Given the description of an element on the screen output the (x, y) to click on. 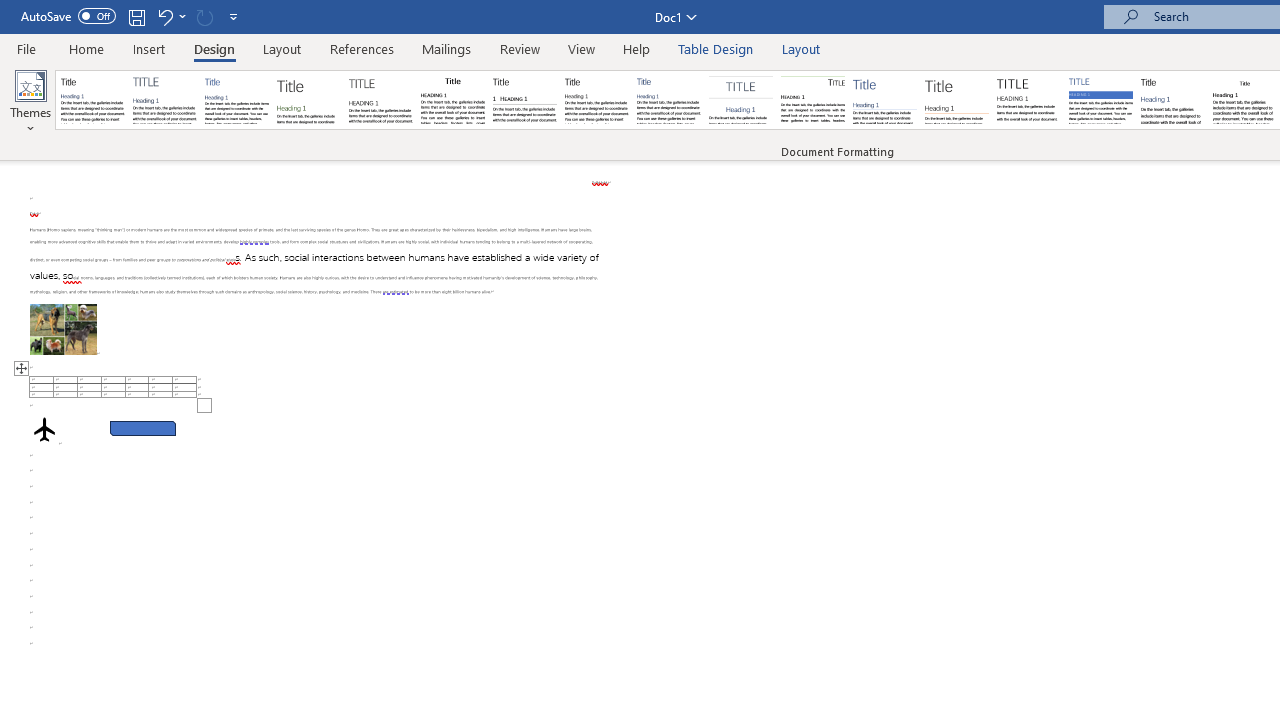
Airplane with solid fill (43, 429)
Themes (30, 102)
Basic (Elegant) (164, 100)
Lines (Simple) (884, 100)
Rectangle: Diagonal Corners Snipped 2 (143, 428)
Black & White (Numbered) (524, 100)
